Given the description of an element on the screen output the (x, y) to click on. 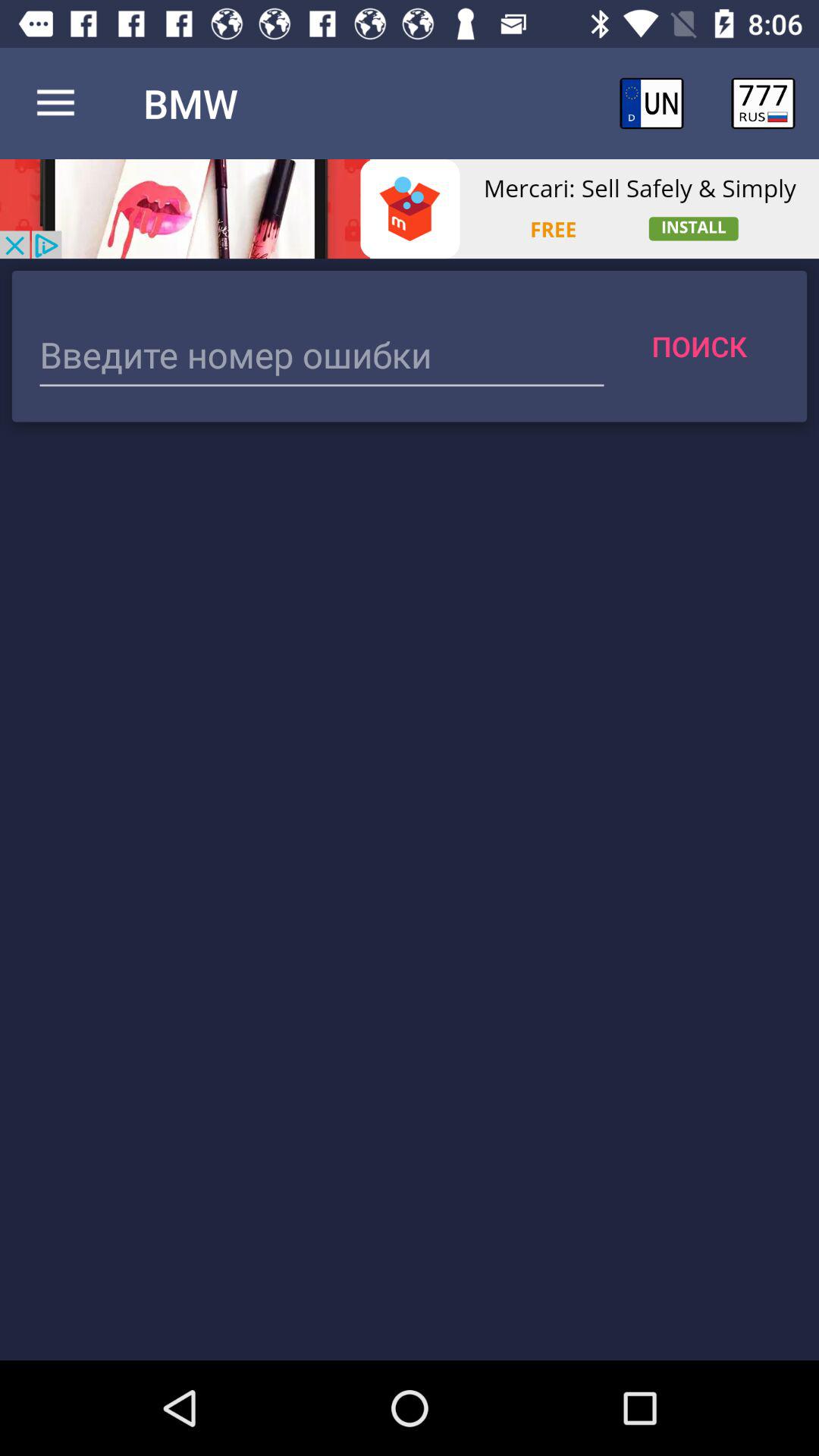
upload the app (409, 208)
